Given the description of an element on the screen output the (x, y) to click on. 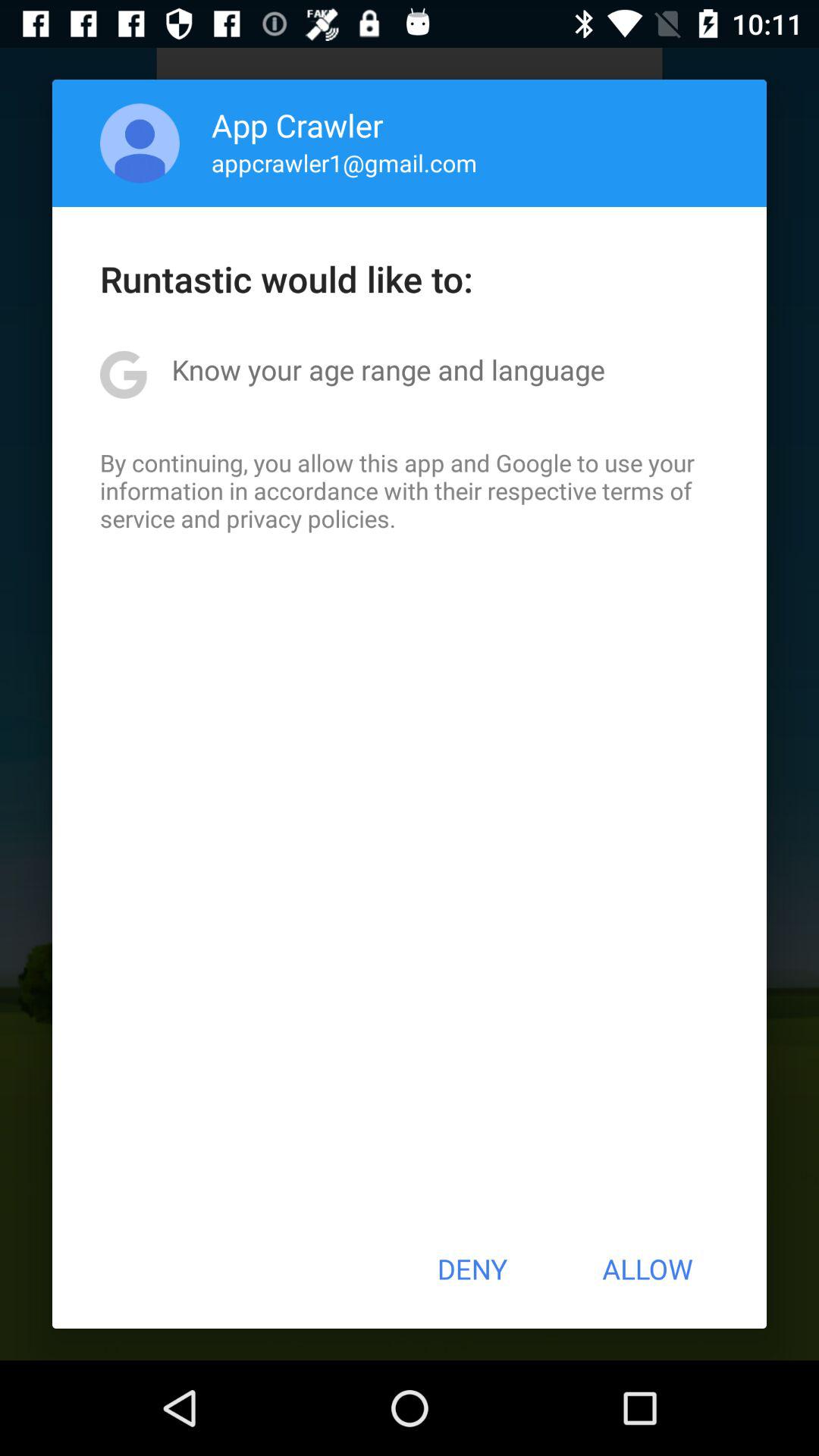
launch icon above by continuing you icon (388, 369)
